Given the description of an element on the screen output the (x, y) to click on. 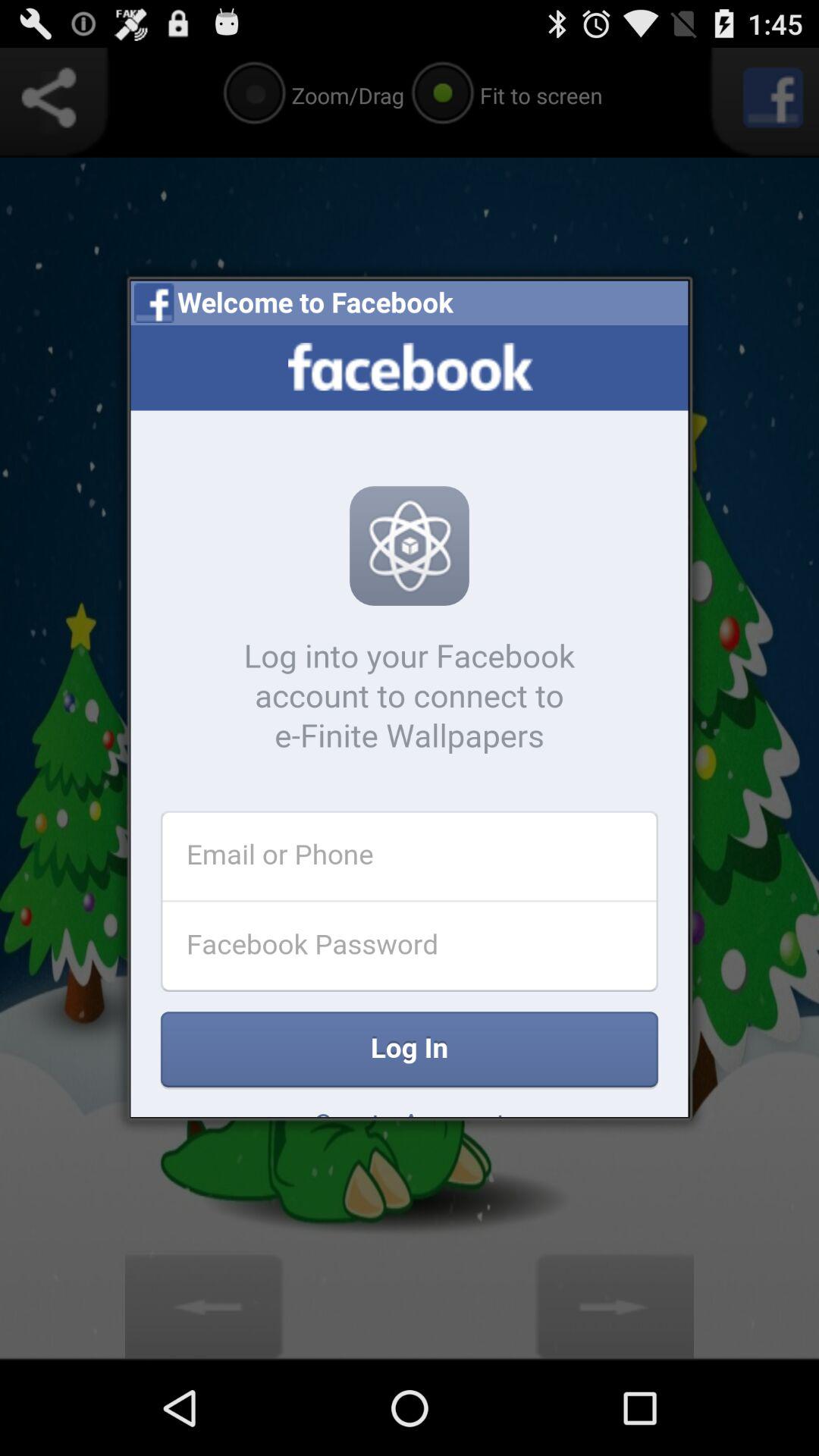
facebook log in (409, 721)
